Given the description of an element on the screen output the (x, y) to click on. 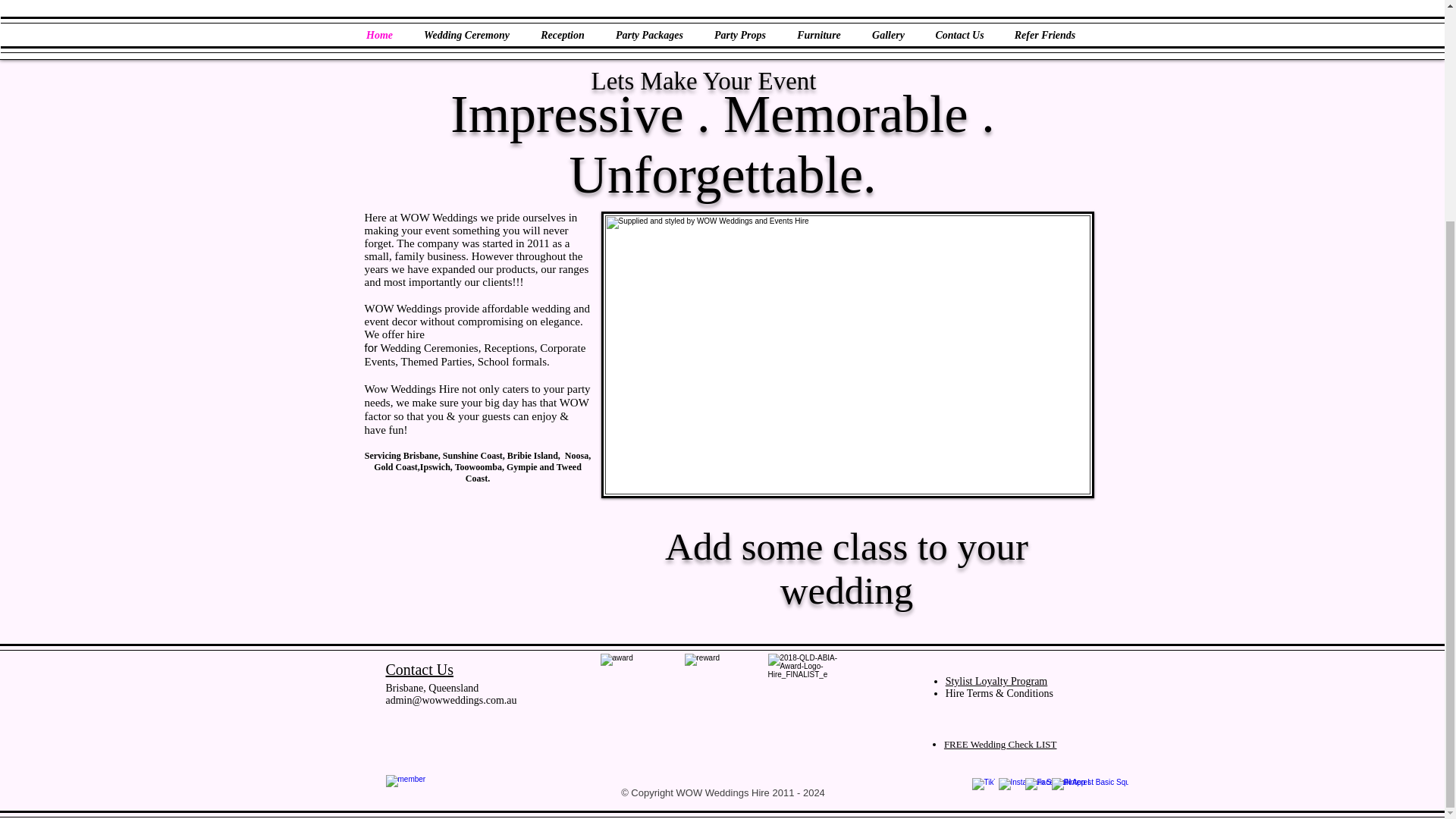
Party Props (739, 35)
Gallery (888, 35)
Home (378, 35)
Furniture (818, 35)
12.png (722, 691)
